Given the description of an element on the screen output the (x, y) to click on. 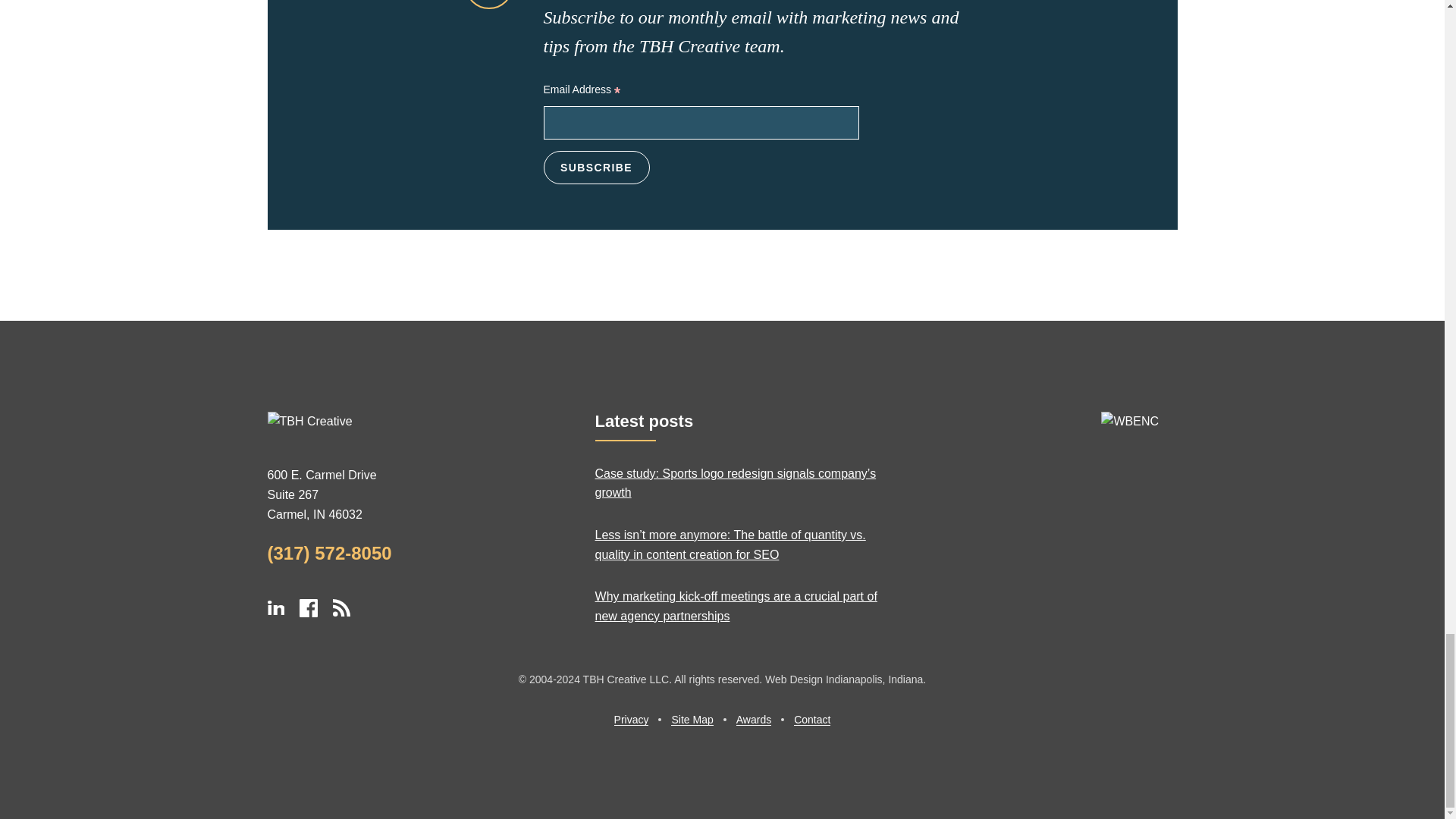
Subscribe (596, 167)
